Given the description of an element on the screen output the (x, y) to click on. 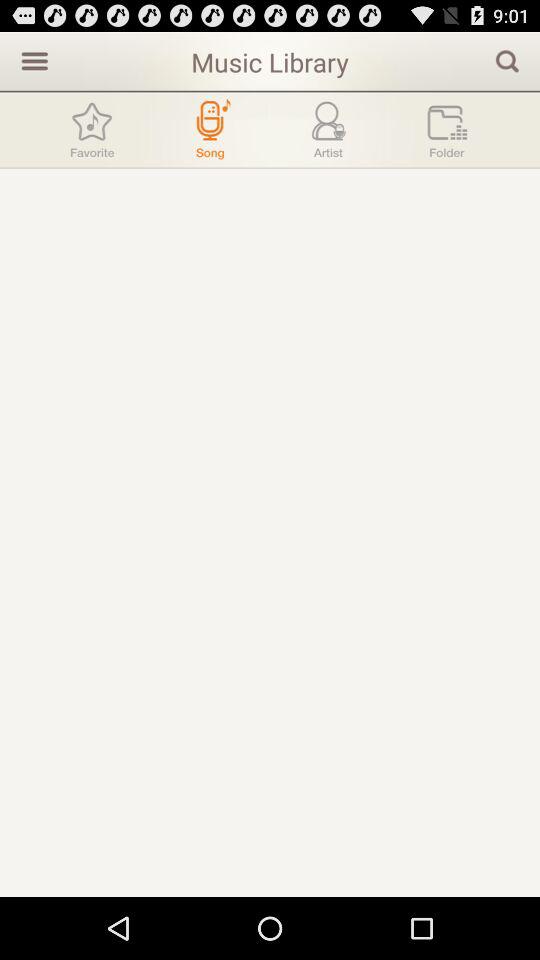
open the item at the center (270, 531)
